Given the description of an element on the screen output the (x, y) to click on. 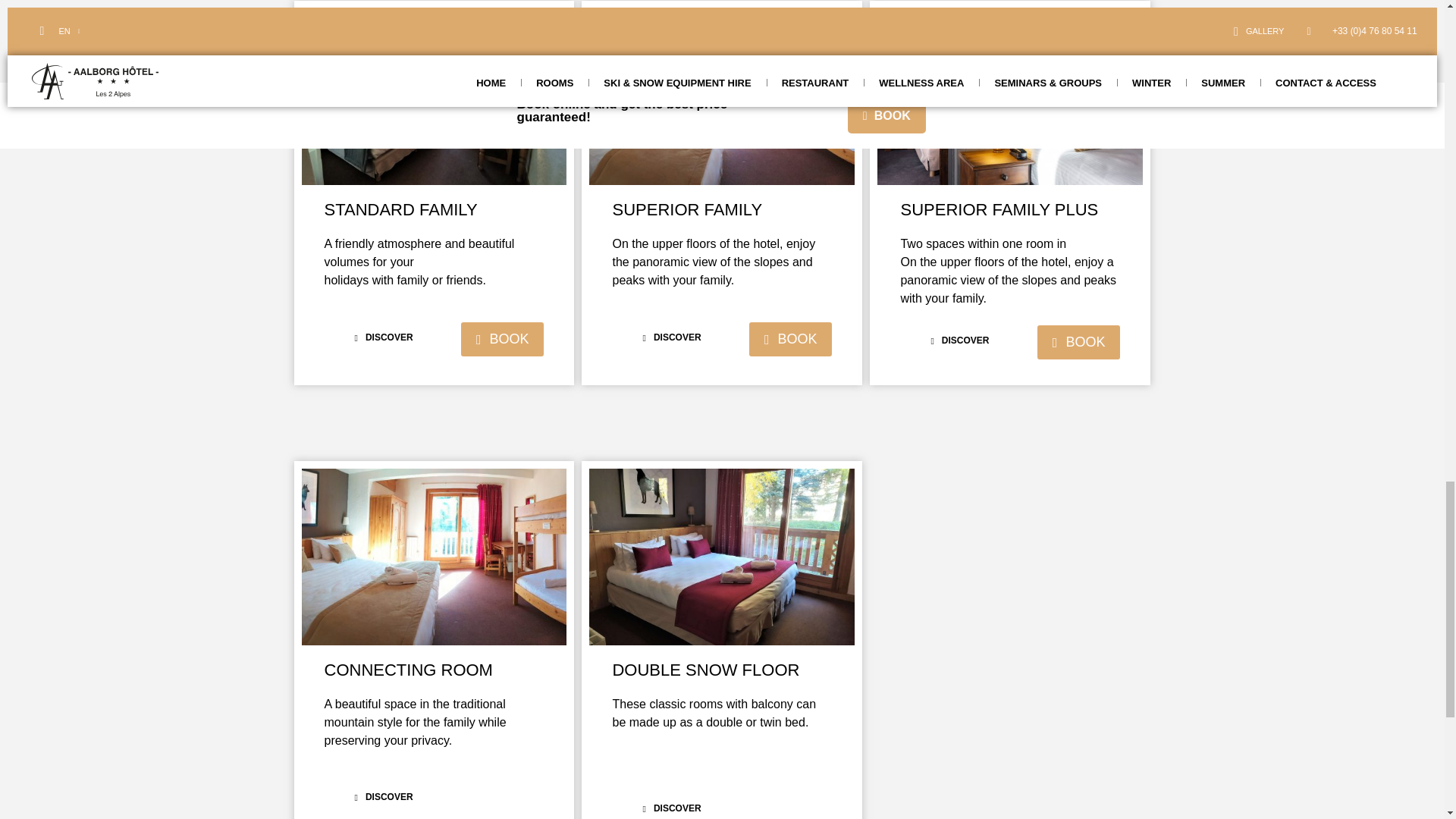
hotel les deux alpes (434, 96)
hotel les 2 alpes (721, 96)
STANDARD DOUBLE ROOM (721, 556)
hotel les 2 alpes (434, 556)
